Given the description of an element on the screen output the (x, y) to click on. 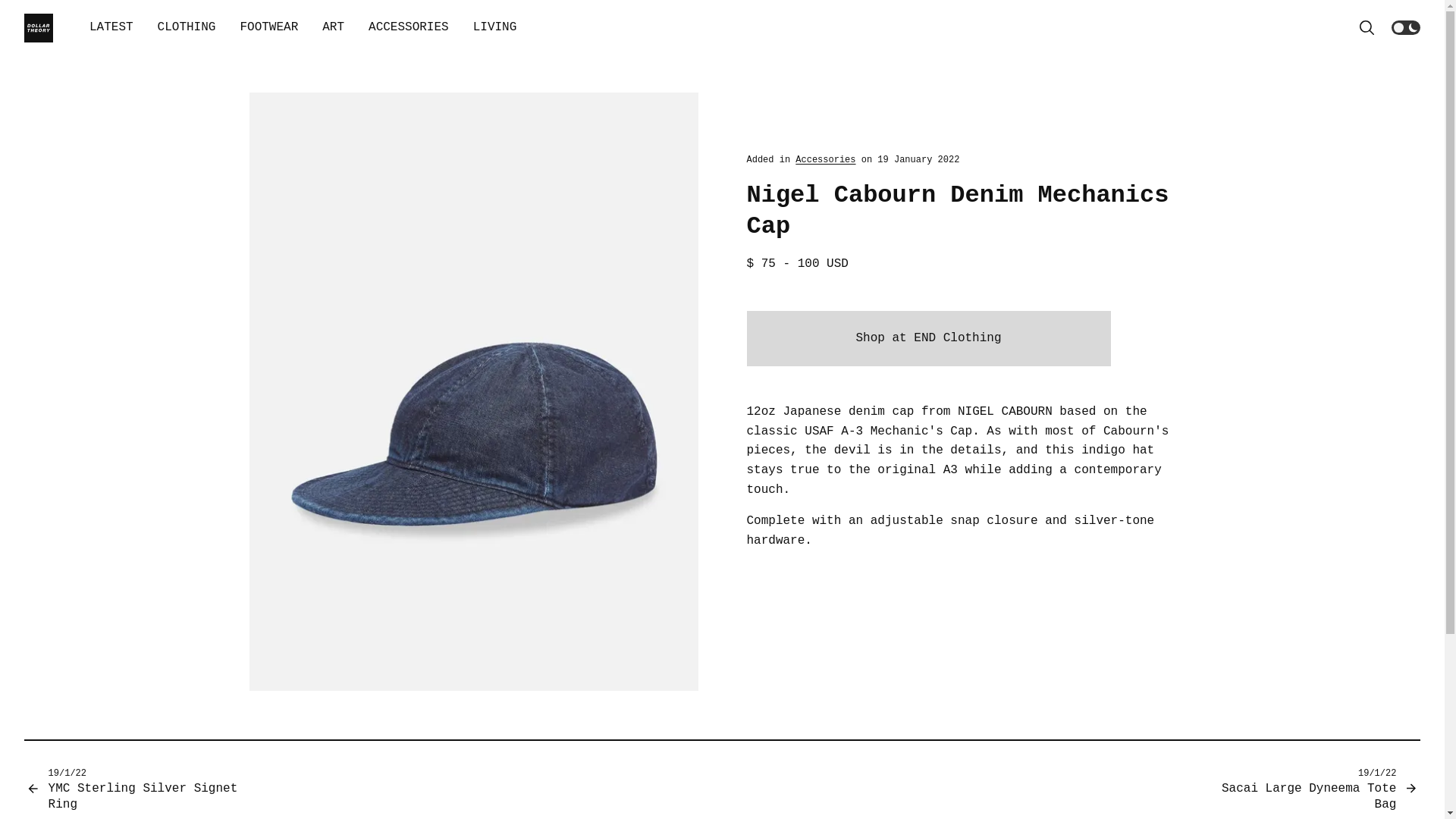
FOOTWEAR (268, 28)
Shop at END Clothing (927, 338)
LIVING (495, 28)
LATEST (111, 28)
ACCESSORIES (408, 28)
ART (333, 28)
Previous Post (145, 788)
Accessories (825, 159)
Dollar Theory (38, 27)
Dollar Theory (38, 27)
